Given the description of an element on the screen output the (x, y) to click on. 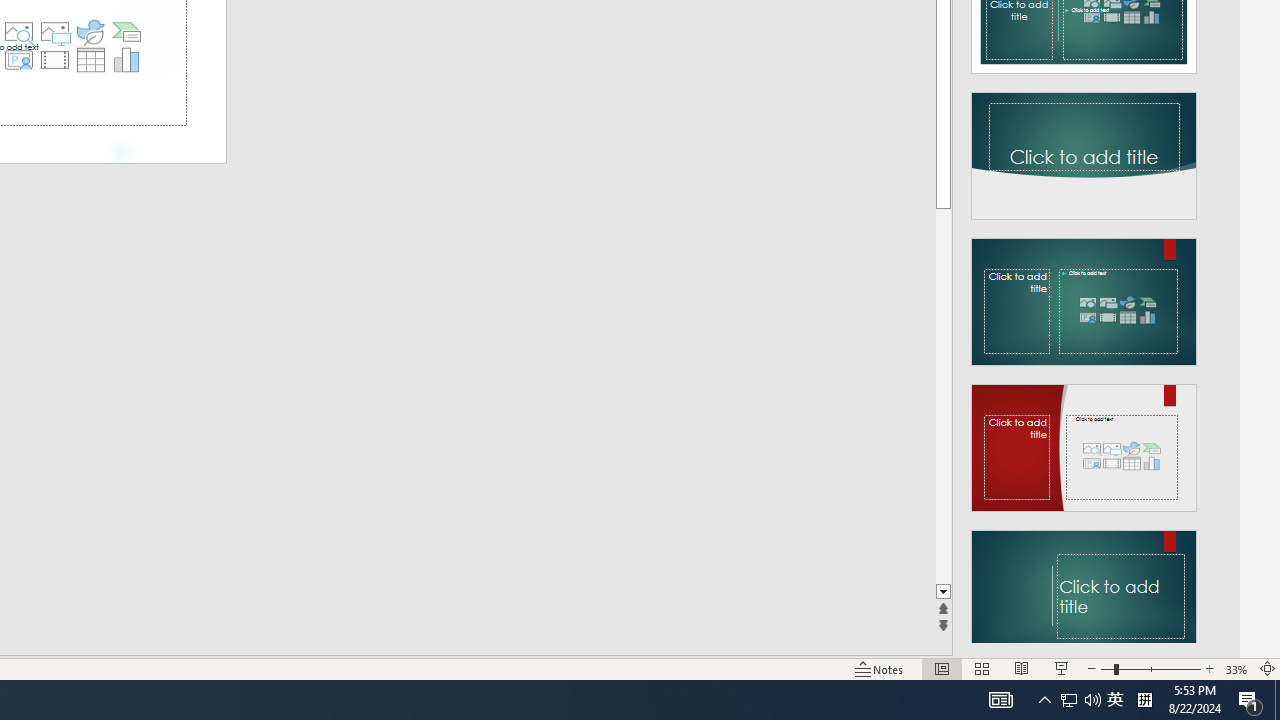
Insert Chart (127, 60)
Pictures (54, 32)
Insert Video (54, 60)
